Given the description of an element on the screen output the (x, y) to click on. 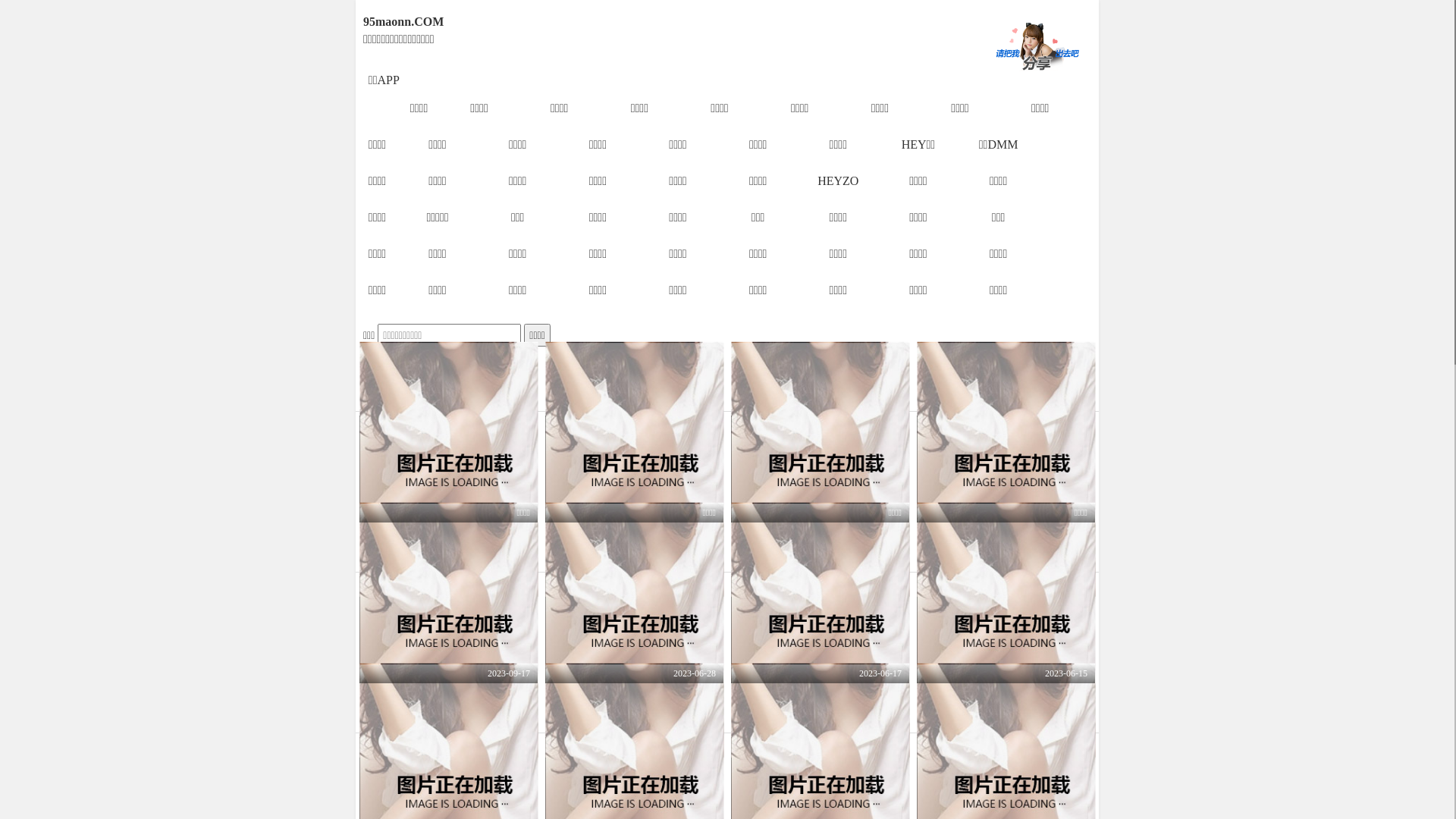
95maonn.COM Element type: text (654, 21)
2023-06-28 Element type: text (634, 629)
HEYZO Element type: text (837, 180)
2023-06-17 Element type: text (820, 629)
2023-09-17 Element type: text (448, 629)
2023-06-15 Element type: text (1005, 629)
